Given the description of an element on the screen output the (x, y) to click on. 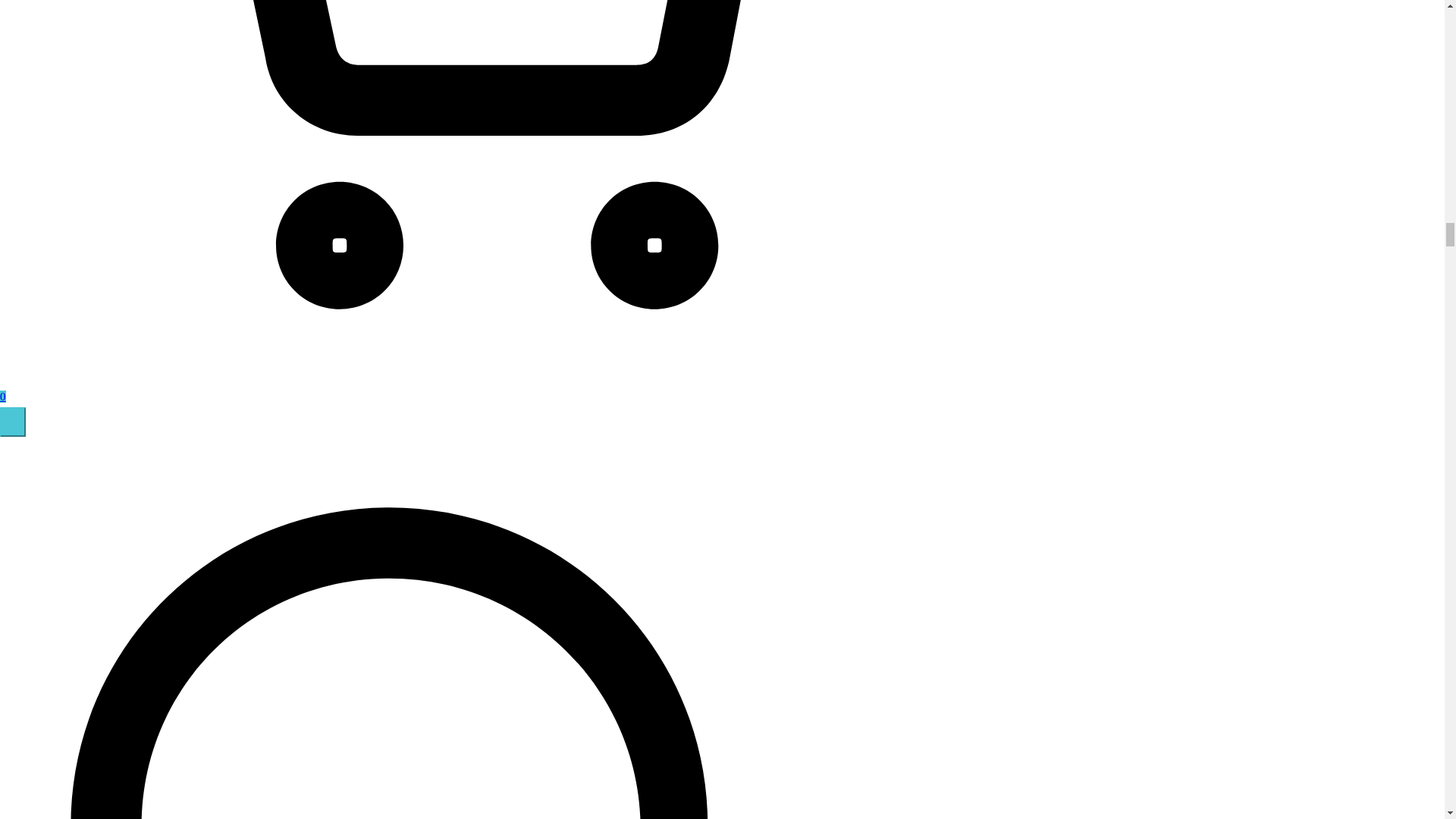
View your shopping cart (424, 386)
